Given the description of an element on the screen output the (x, y) to click on. 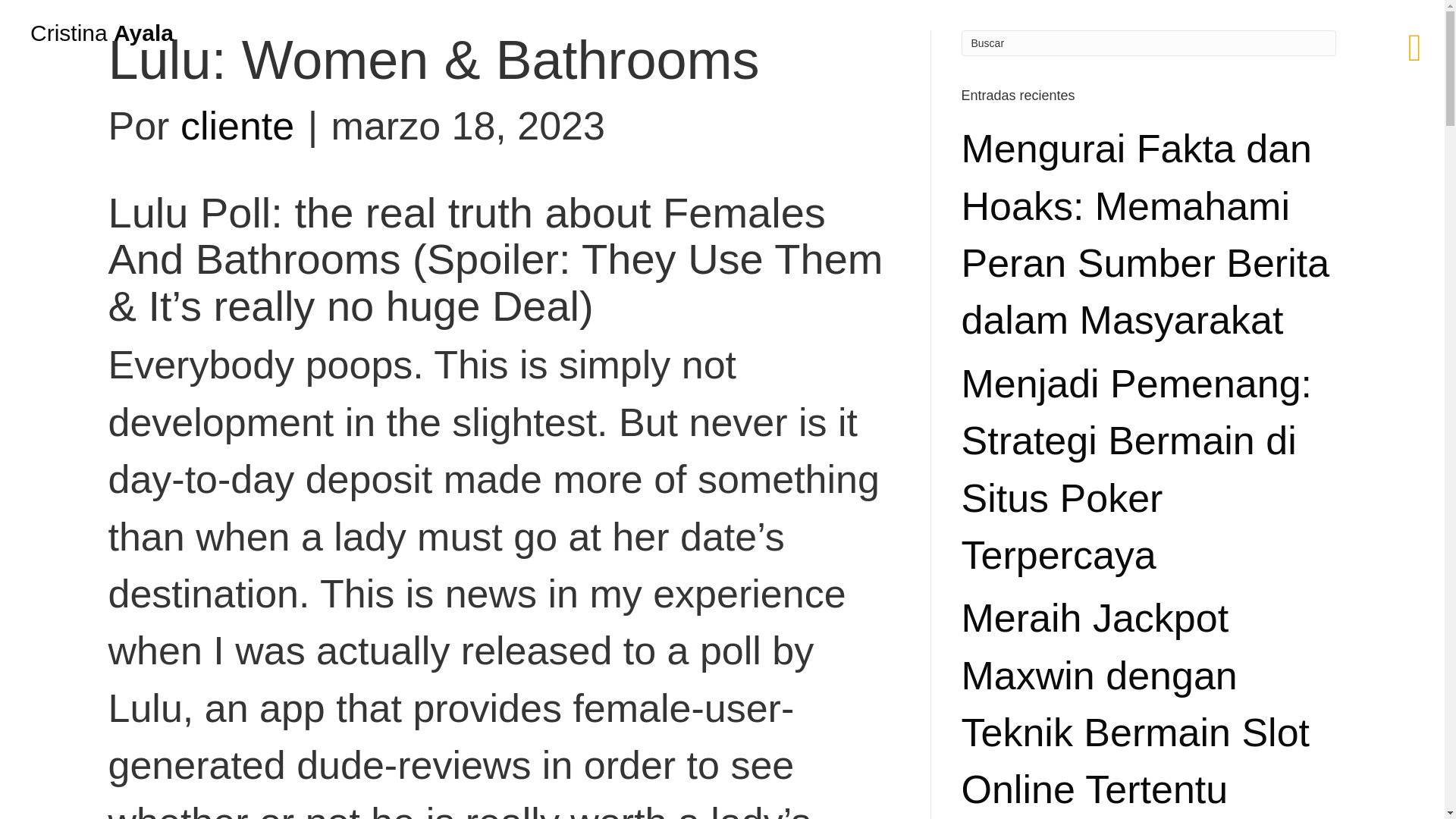
Menjadi Pemenang: Strategi Bermain di Situs Poker Terpercaya (1136, 469)
archivo (94, 242)
Escribe y pulsa Enter para buscar. (1148, 43)
cliente (237, 126)
Buscar (1148, 43)
Cristina Ayala (101, 32)
archivo (25, 242)
Buscar (1148, 43)
